Given the description of an element on the screen output the (x, y) to click on. 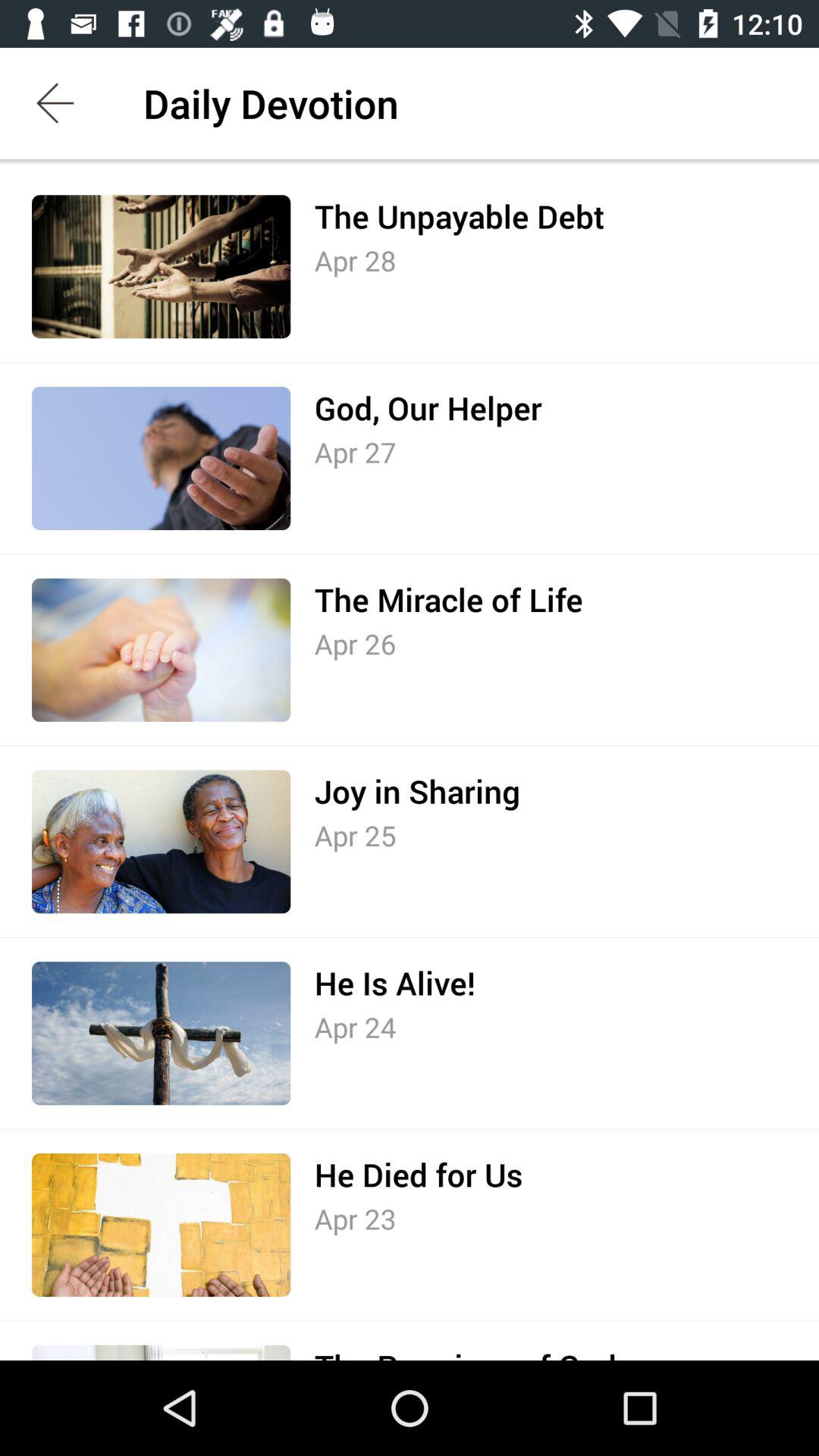
turn off item below the the unpayable debt item (355, 260)
